Given the description of an element on the screen output the (x, y) to click on. 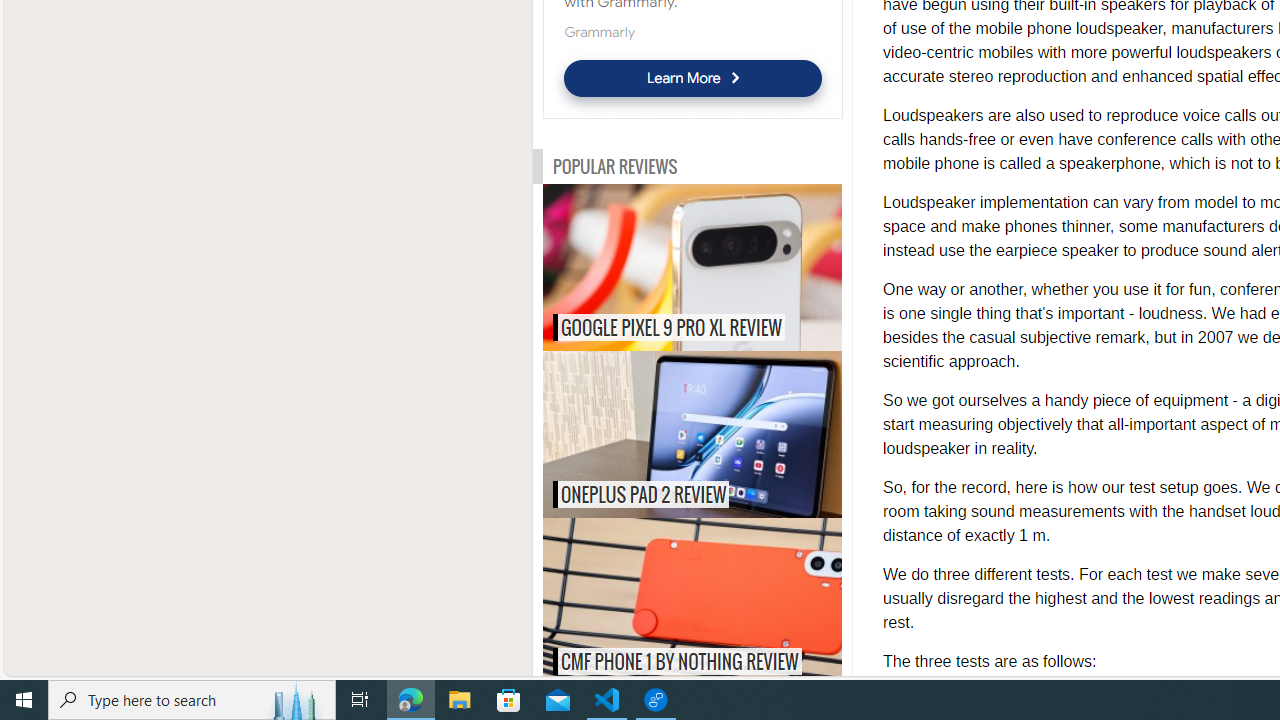
Google Pixel 9 Pro XL review GOOGLE PIXEL 9 PRO XL REVIEW (692, 267)
Learn More (692, 78)
CMF Phone 1 by Nothing review CMF PHONE 1 BY NOTHING REVIEW (692, 600)
CMF Phone 1 by Nothing review (734, 600)
Google Pixel 9 Pro XL review (734, 267)
OnePlus Pad 2 review ONEPLUS PAD 2 REVIEW (692, 434)
OnePlus Pad 2 review (734, 434)
Grammarly (598, 31)
